Given the description of an element on the screen output the (x, y) to click on. 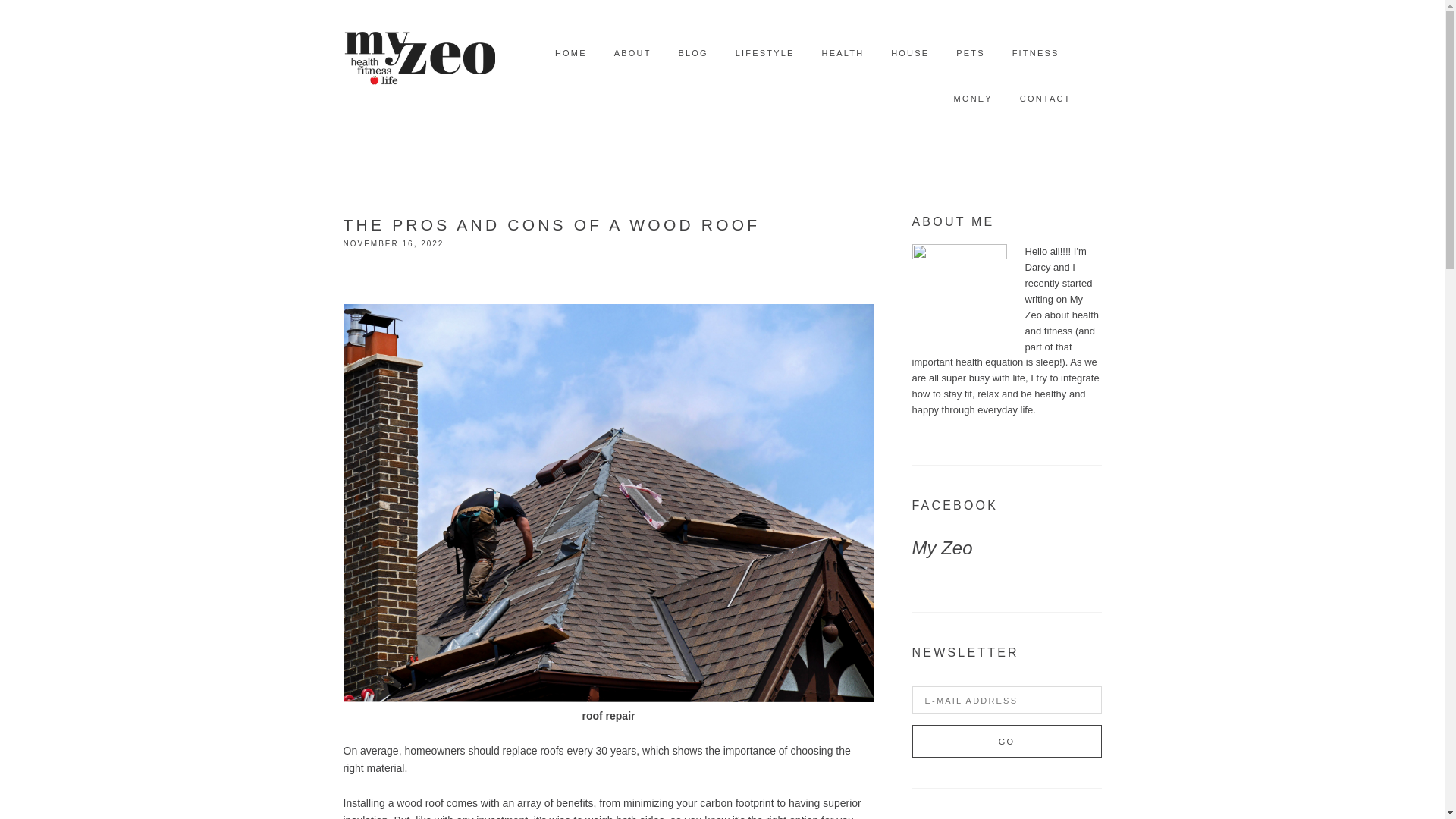
Go (1005, 740)
MY ZEO (418, 53)
LIFESTYLE (764, 53)
FITNESS (1035, 53)
HEALTH (843, 53)
My Zeo (941, 547)
Go (1005, 740)
every 30 years (601, 750)
CONTACT (1045, 98)
